Given the description of an element on the screen output the (x, y) to click on. 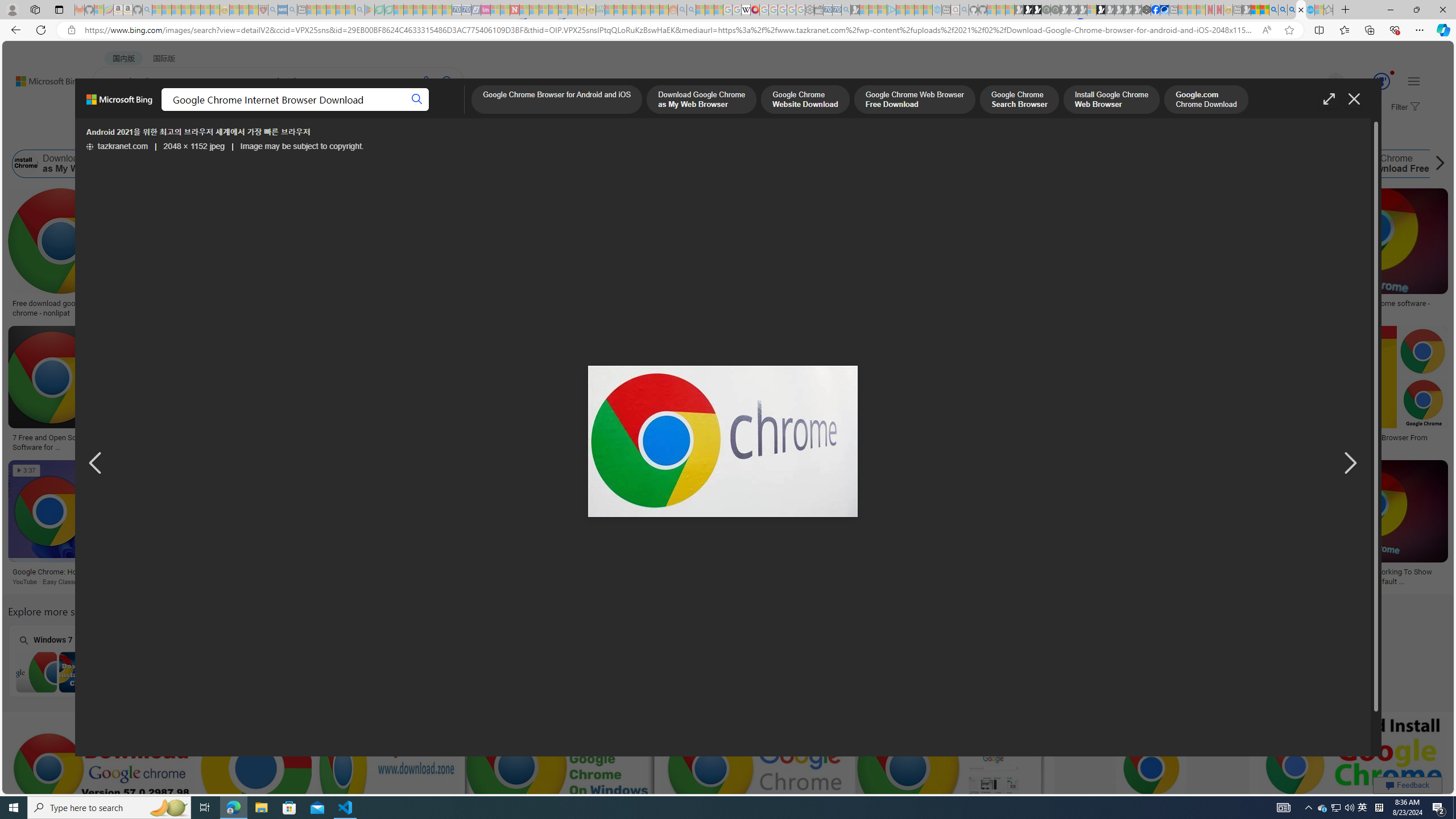
Descargar Google Chrome Para Pc 2021 Windows 7810 (206, 437)
Workspaces (34, 9)
Favorites - Sleeping (1328, 9)
How to download & install Chrome on Windows 10 /11Save (1000, 254)
Download internet explorer 9.0 free - snorobotSave (467, 524)
tazkranet.com (116, 146)
Google Chrome for Download (1260, 163)
Image size (127, 135)
Filter (1403, 107)
Services - Maintenance | Sky Blue Bikes - Sky Blue Bikes (1309, 9)
